Given the description of an element on the screen output the (x, y) to click on. 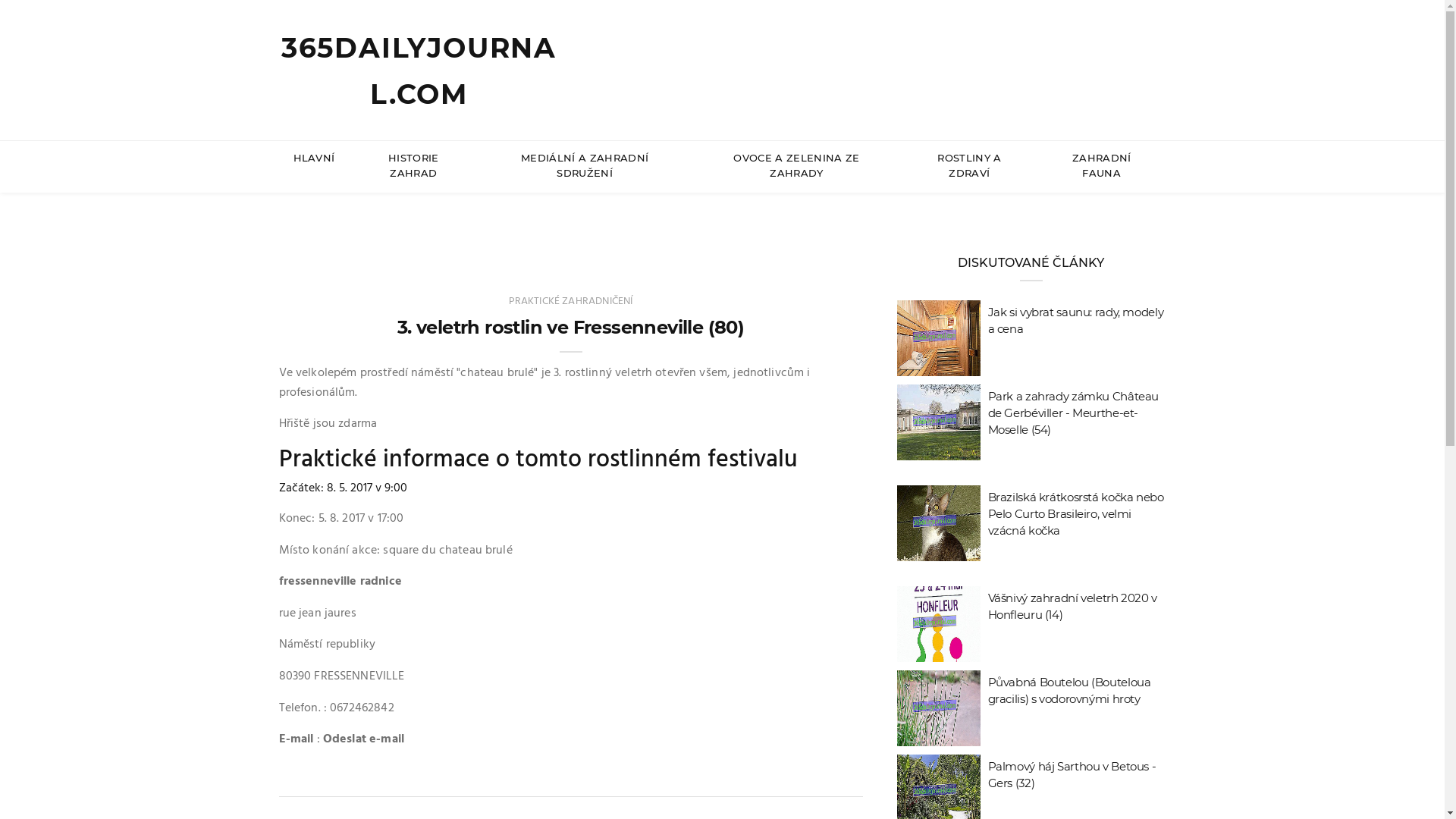
365DAILYJOURNAL.COM Element type: text (418, 70)
OVOCE A ZELENINA ZE ZAHRADY Element type: text (796, 165)
Jak si vybrat saunu: rady, modely a cena Element type: text (1075, 319)
HISTORIE ZAHRAD Element type: text (413, 165)
